Given the description of an element on the screen output the (x, y) to click on. 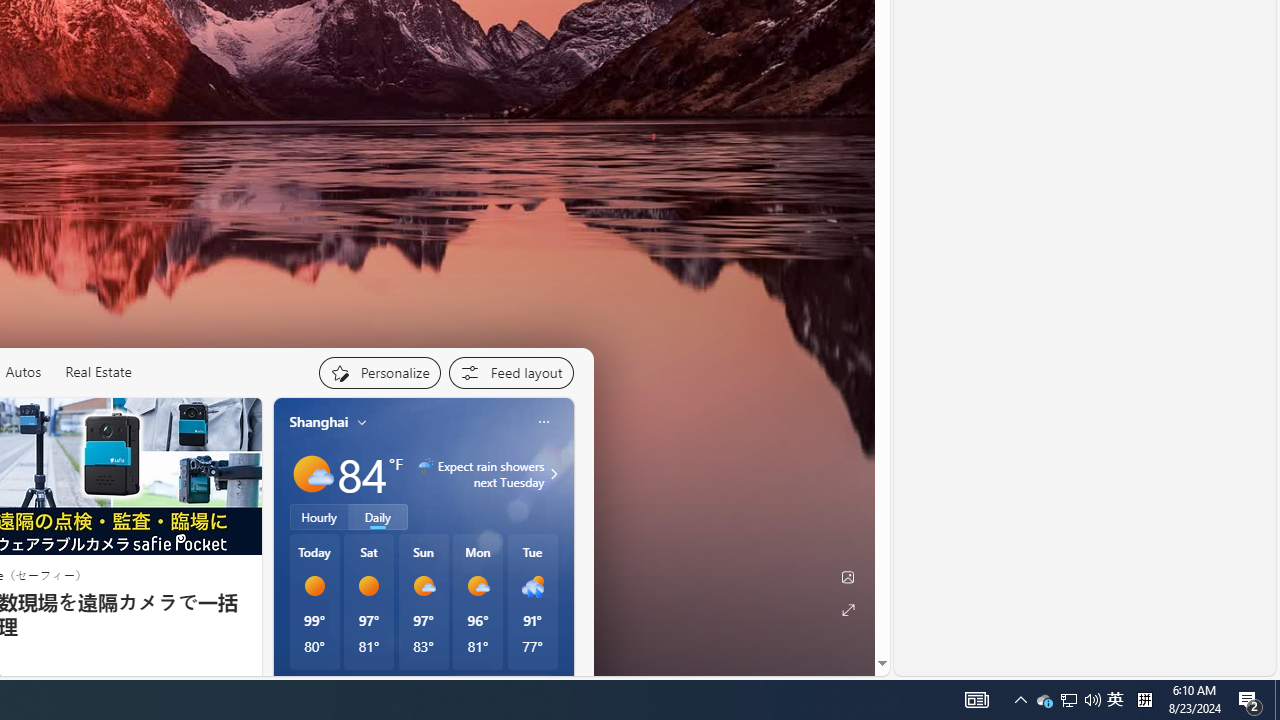
Sunny (369, 585)
Rain showers (532, 585)
See full forecast (502, 685)
